Given the description of an element on the screen output the (x, y) to click on. 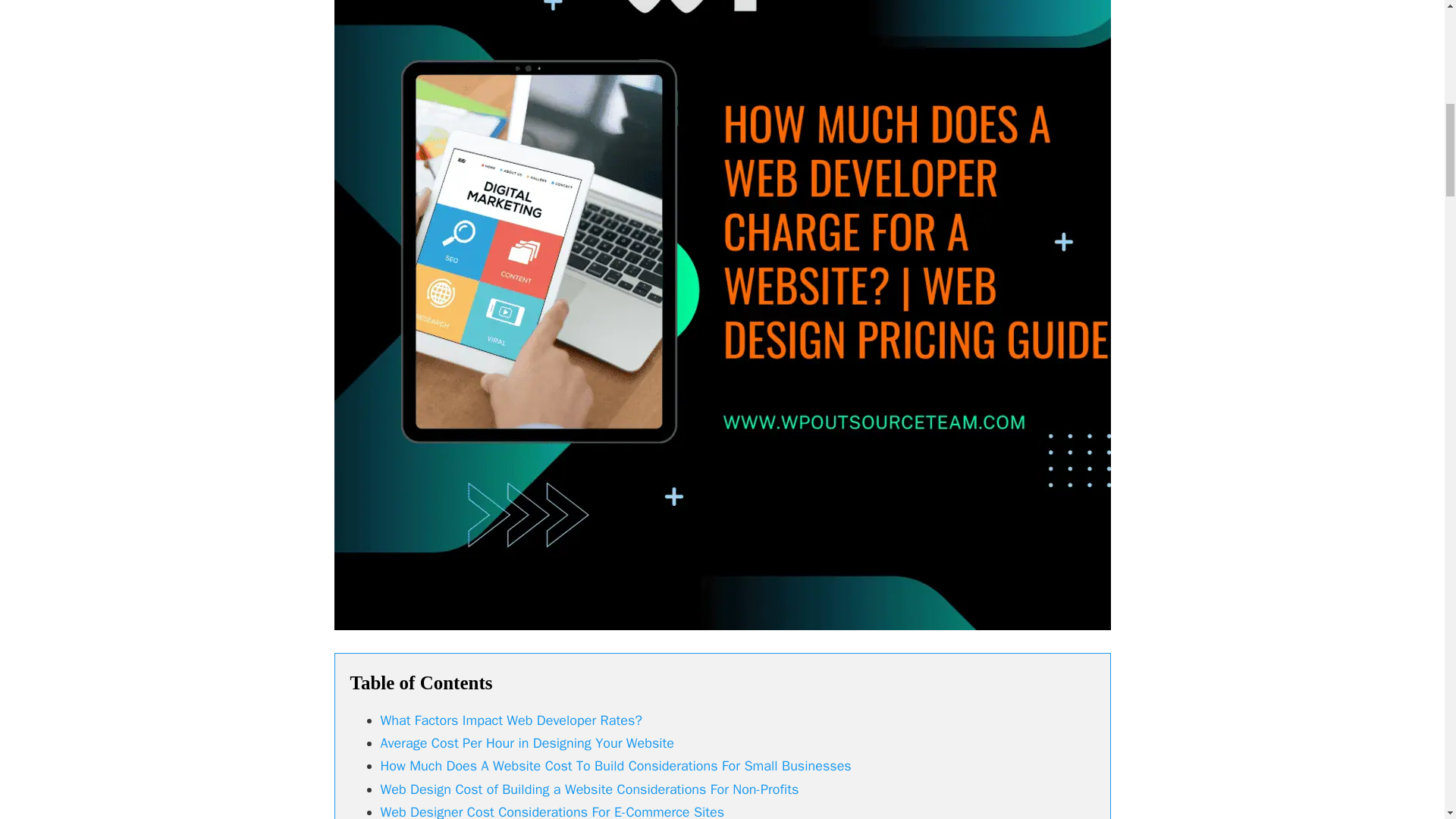
Web Designer Cost Considerations For E-Commerce Sites (552, 811)
Average Cost Per Hour in Designing Your Website  (529, 742)
What Factors Impact Web Developer Rates? (511, 719)
